Given the description of an element on the screen output the (x, y) to click on. 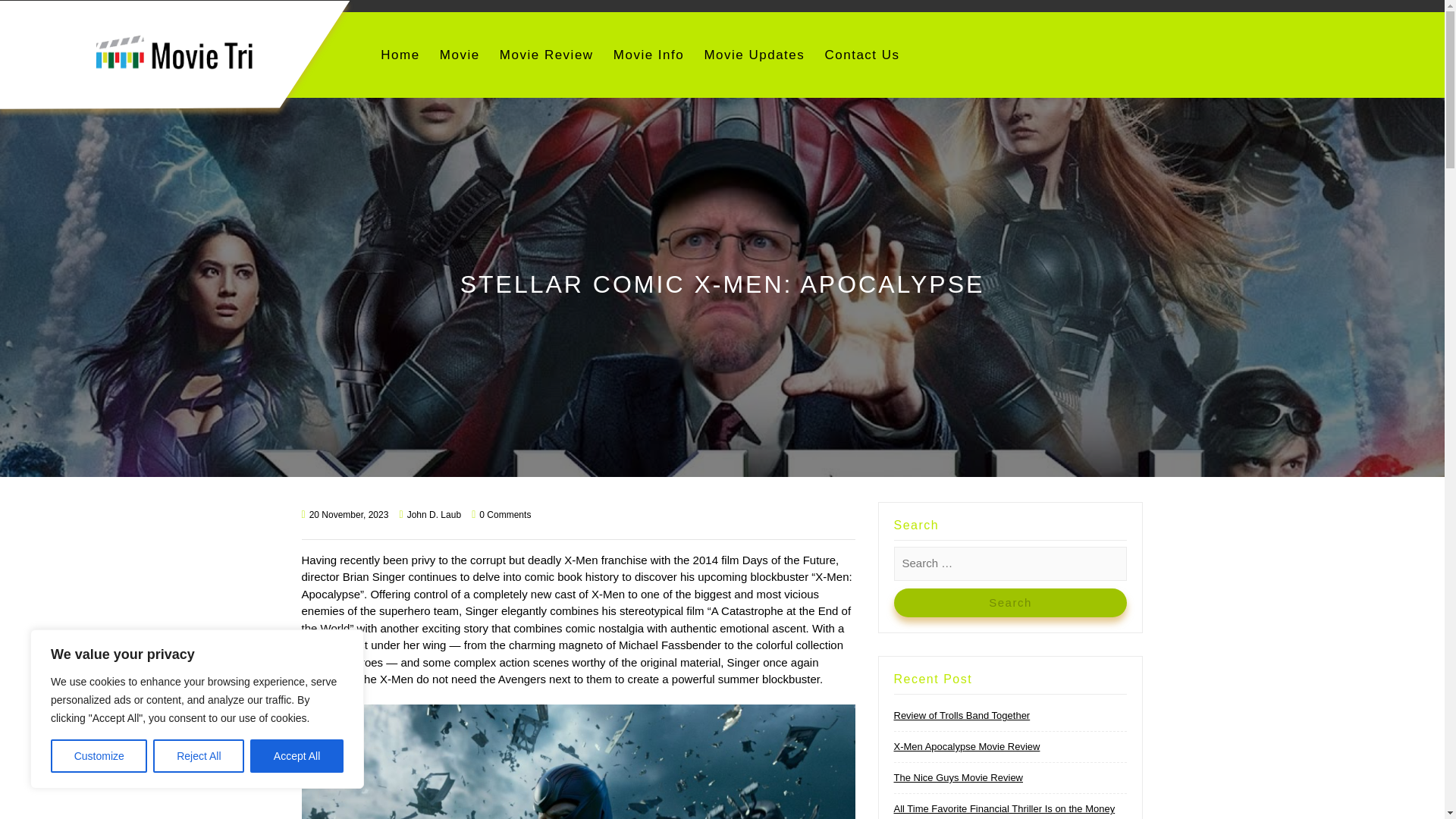
Movie Updates (754, 55)
Contact Us (861, 55)
Movie Info (648, 55)
Movie (459, 55)
Search (1009, 603)
Movie Review (546, 55)
Customize (98, 756)
Accept All (296, 756)
Review of Trolls Band Together (961, 715)
Home (399, 55)
X-Men Apocalypse Movie Review (966, 746)
Reject All (198, 756)
